Given the description of an element on the screen output the (x, y) to click on. 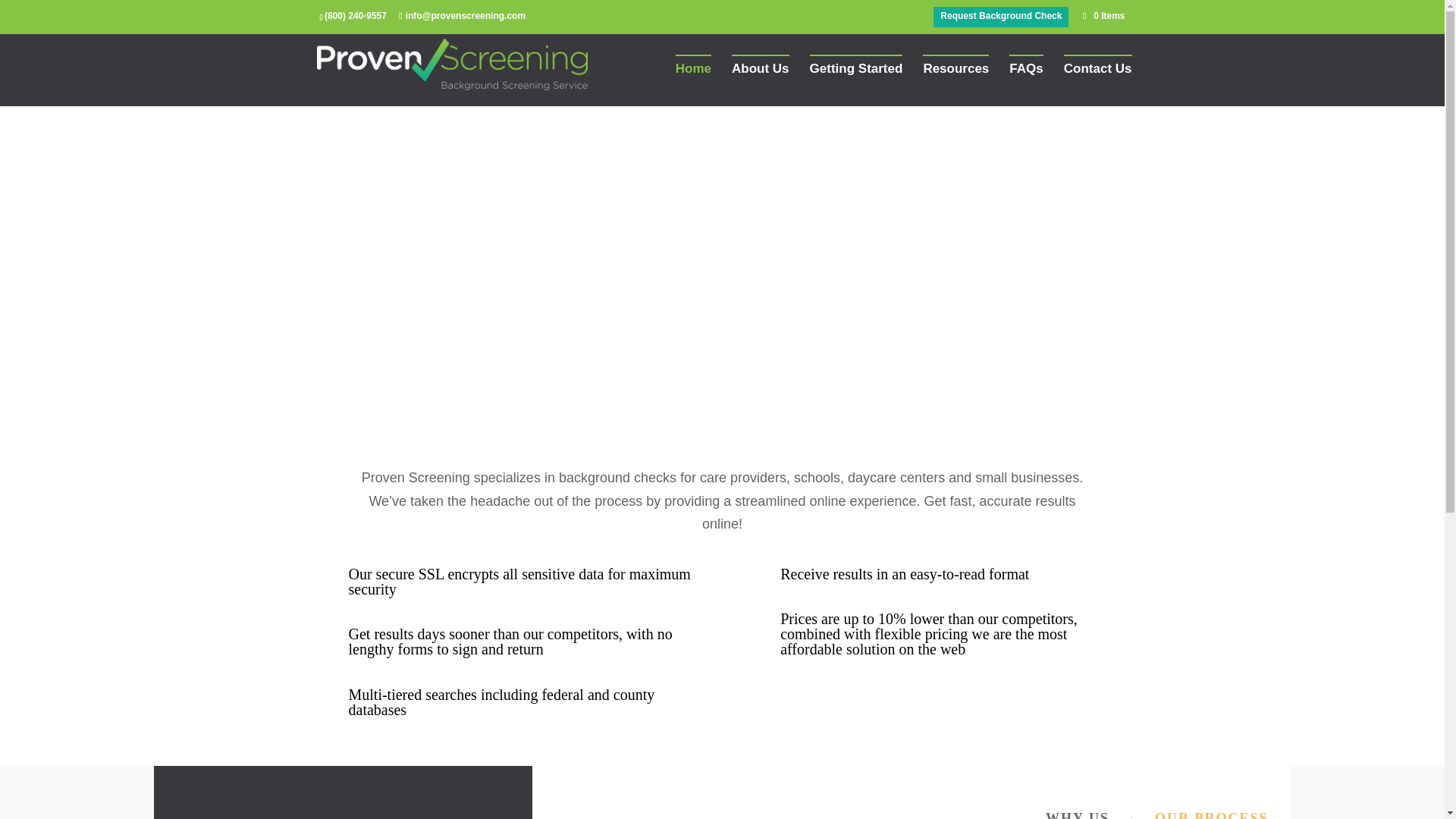
OUR PROCESS (1211, 811)
About Us (760, 80)
WHY US (1077, 811)
Resources (955, 80)
Contact Us (1098, 80)
Request Background Check (1000, 16)
0 Items (1102, 15)
Getting Started (855, 80)
